Given the description of an element on the screen output the (x, y) to click on. 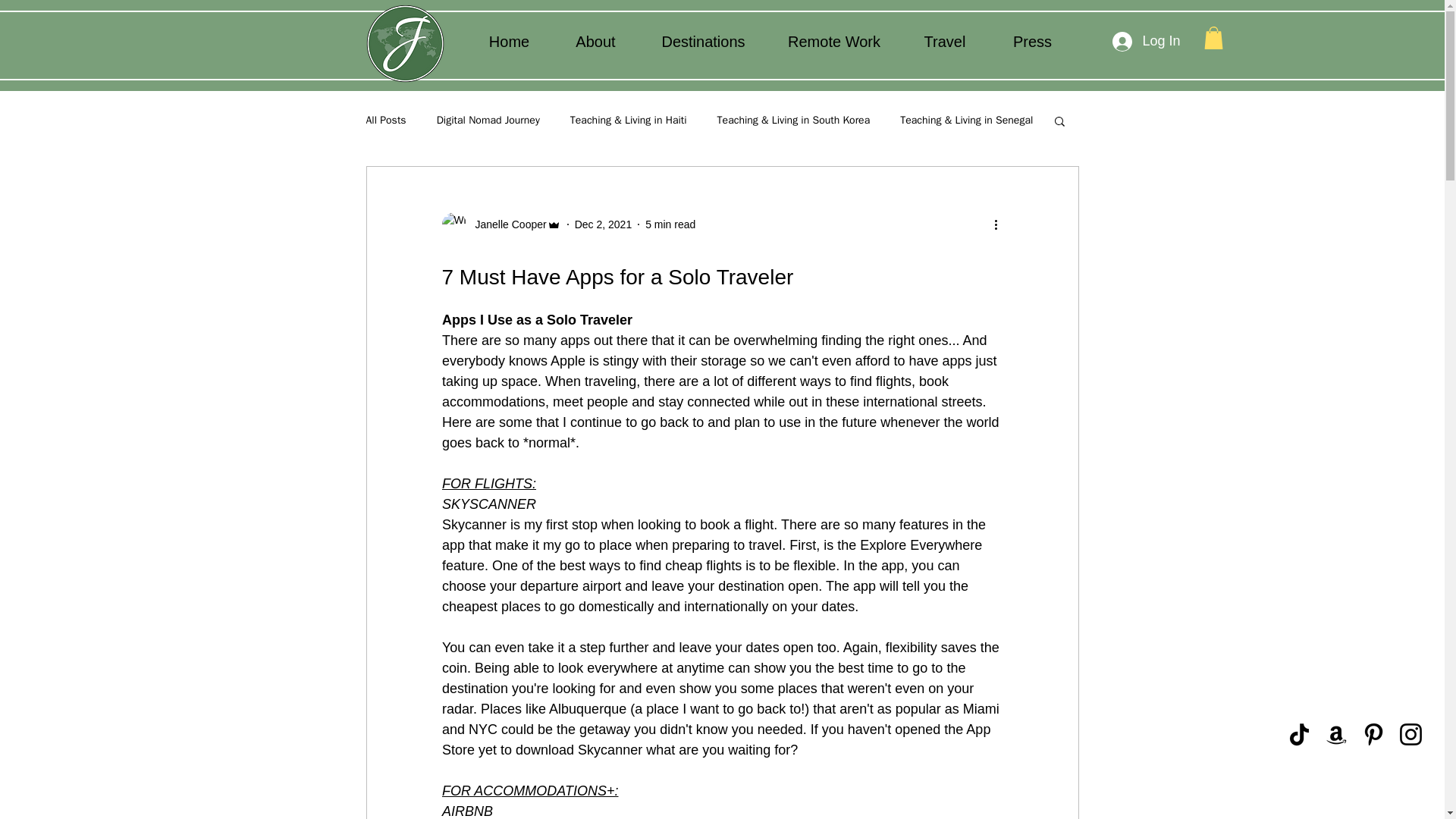
Destinations (703, 41)
Digital Nomad Journey (488, 120)
Dec 2, 2021 (603, 224)
5 min read (670, 224)
Janelle Cooper (505, 224)
Press (1031, 41)
Janelle Cooper (500, 224)
Log In (1145, 41)
All Posts (385, 120)
Remote Work (833, 41)
